Given the description of an element on the screen output the (x, y) to click on. 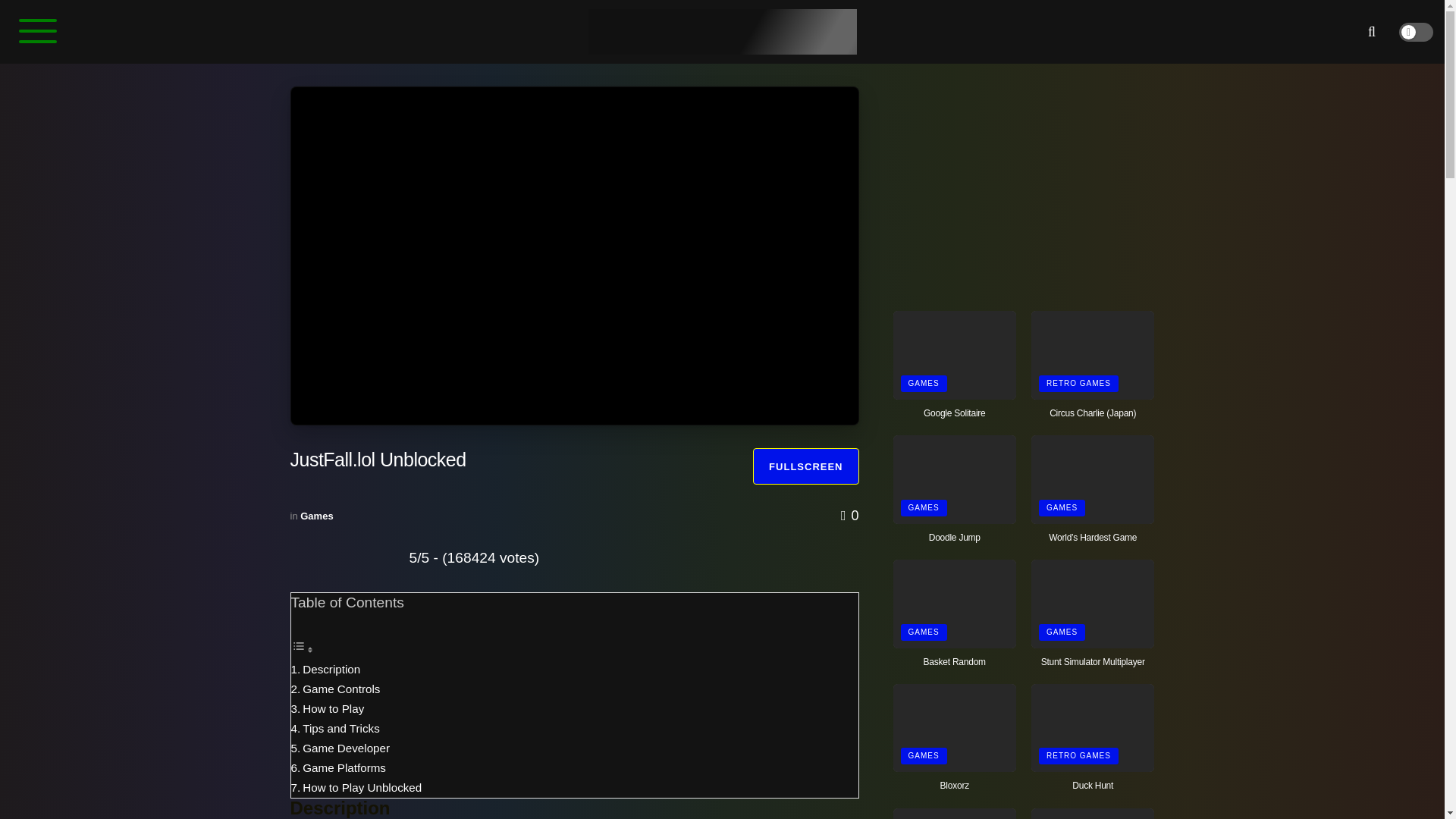
How to Play (333, 707)
Tips and Tricks (341, 727)
How to Play Unblocked (362, 787)
Game Controls (341, 688)
Description (330, 668)
Game Controls (341, 688)
Game Developer (346, 748)
Tips and Tricks (341, 727)
Game Platforms (343, 767)
